Given the description of an element on the screen output the (x, y) to click on. 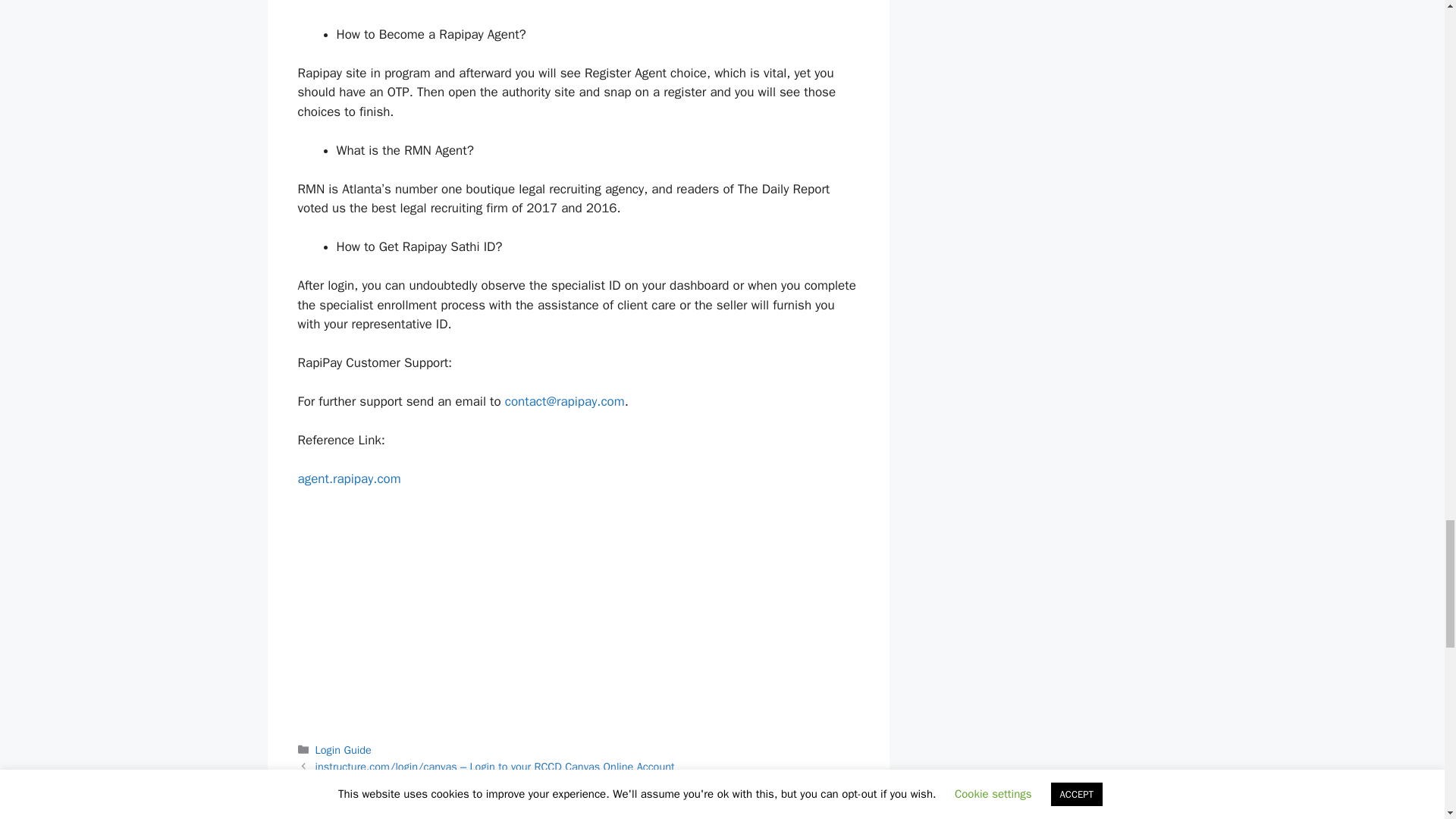
How to Activate Your CareCredit Rewards MasterCard Online (459, 782)
agent.rapipay.com (348, 478)
Login Guide (343, 749)
